Given the description of an element on the screen output the (x, y) to click on. 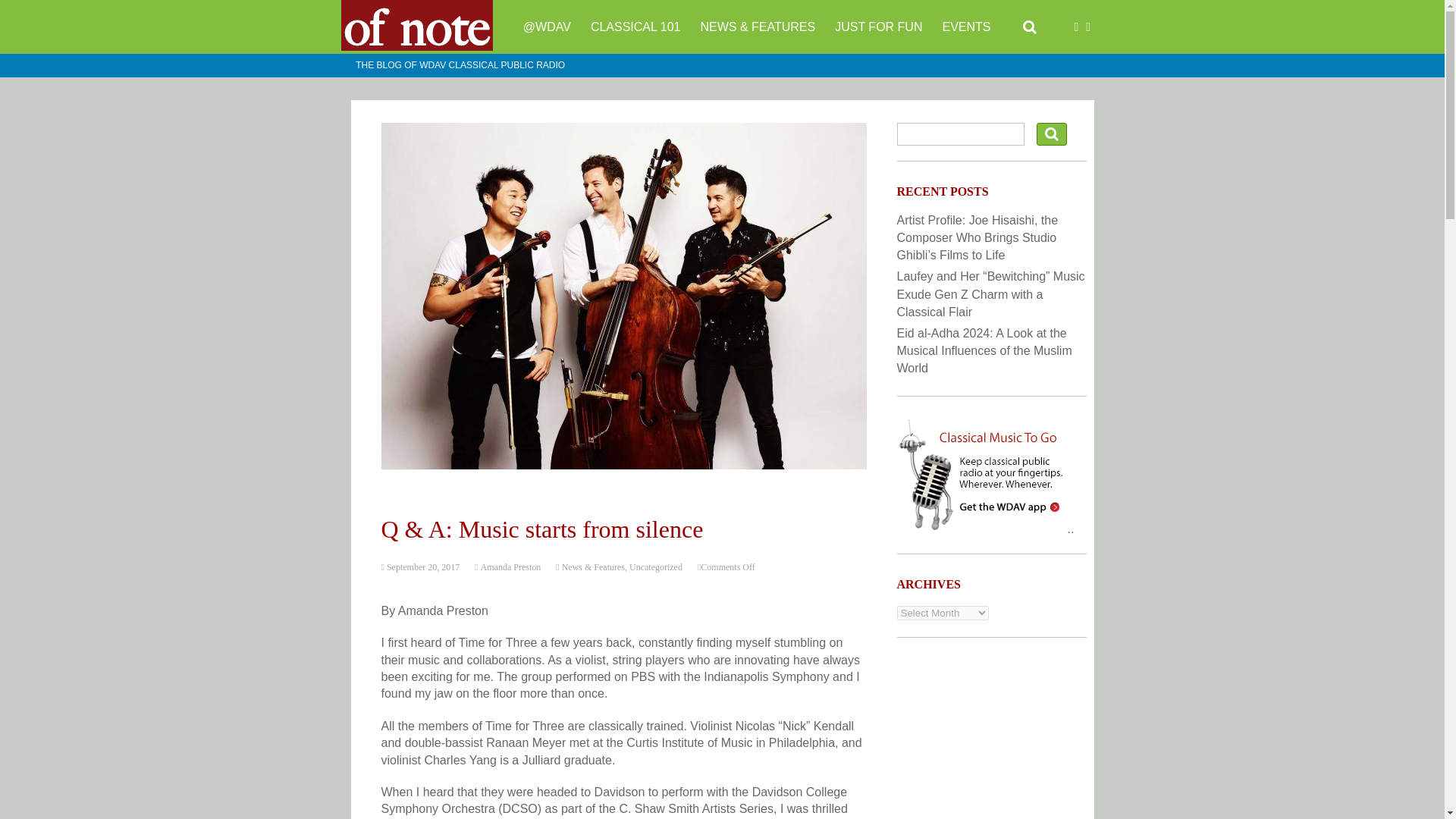
CLASSICAL 101 (635, 27)
View all posts by Amanda Preston (510, 566)
THE BLOG OF WDAV CLASSICAL PUBLIC RADIO (459, 65)
Uncategorized (655, 566)
EVENTS (965, 27)
Amanda Preston (510, 566)
Search (1051, 133)
SEARCH (1029, 27)
JUST FOR FUN (878, 27)
September 20, 2017 (422, 566)
Search (1051, 133)
